Given the description of an element on the screen output the (x, y) to click on. 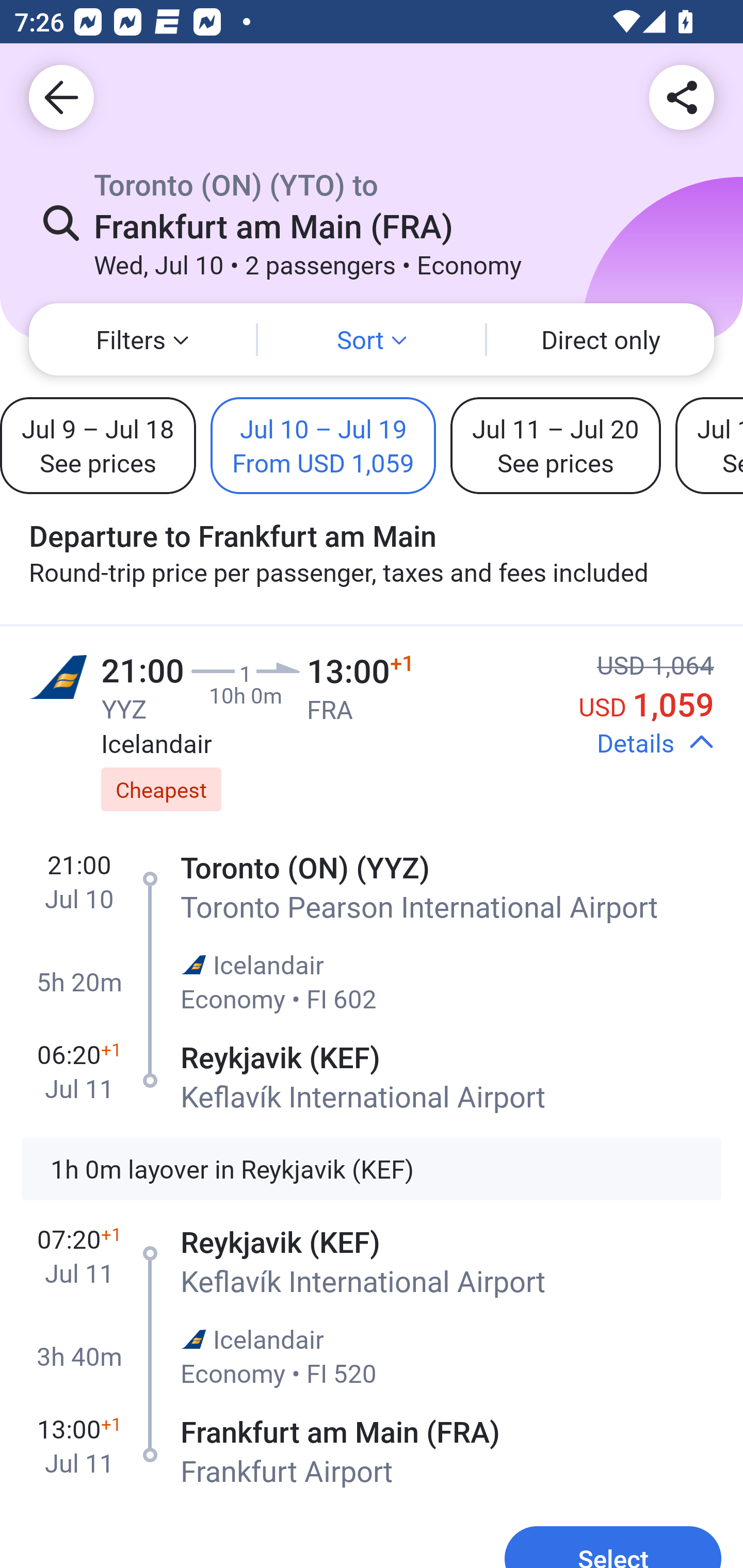
Filters (141, 339)
Sort (371, 339)
Direct only (600, 339)
Jul 9 – Jul 18 See prices (98, 444)
Jul 10 – Jul 19 From USD 1,059 (323, 444)
Jul 11 – Jul 20 See prices (555, 444)
Select (612, 1541)
